Given the description of an element on the screen output the (x, y) to click on. 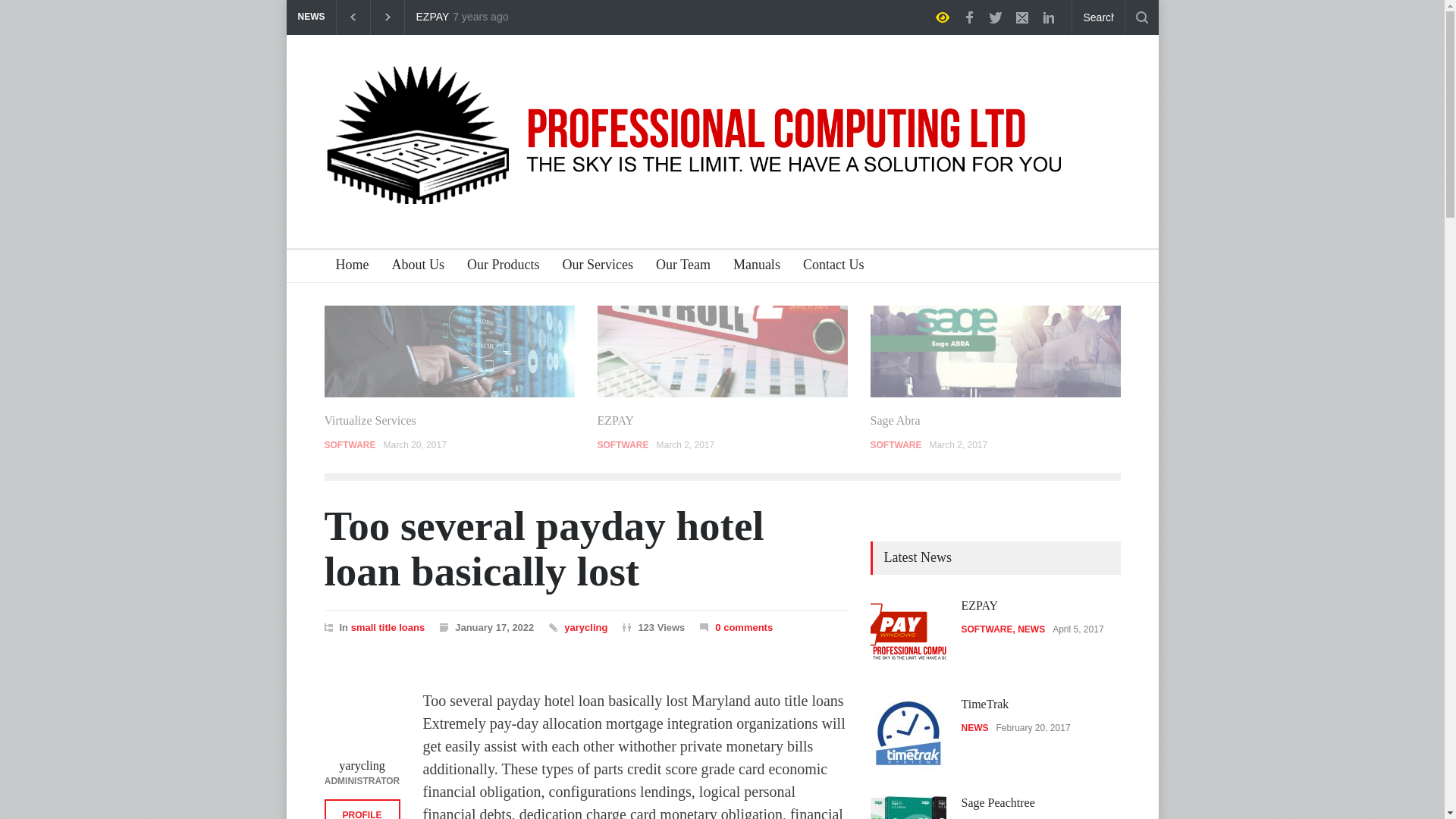
View all posts filed under SOFTWARE (622, 444)
EZPAY (615, 420)
0 comments (736, 627)
Home (346, 266)
EZPAY (721, 351)
EZPAY (431, 17)
About Us (412, 266)
Virtualize Services (449, 351)
